Given the description of an element on the screen output the (x, y) to click on. 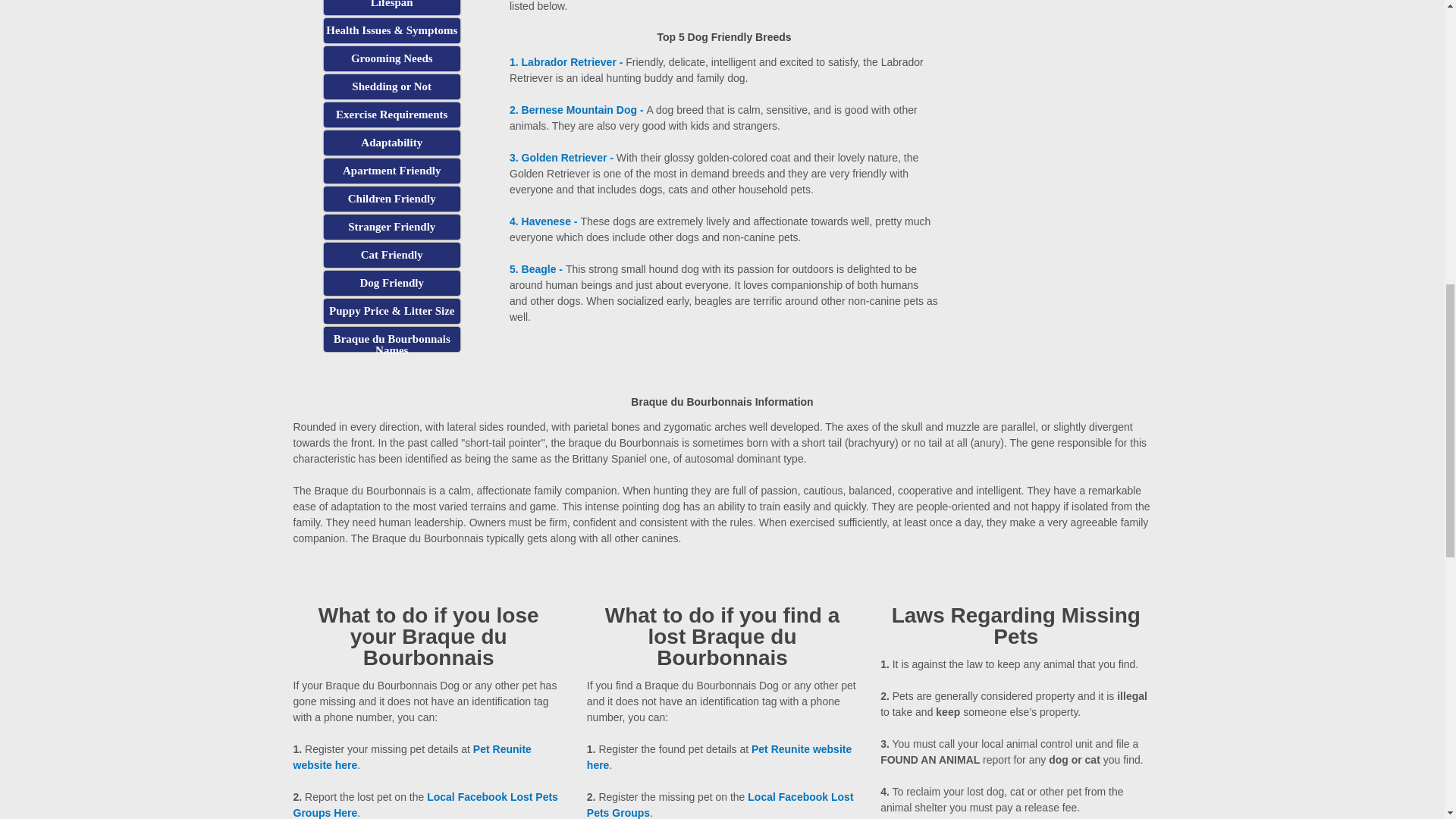
Can Braque du Bourbonnais Dogs live in apartments? (391, 170)
Do Braque du Bourbonnais Dogs need lots of exercise? (391, 114)
Do Braque du Bourbonnais Dogs needs lot of looking after? (391, 58)
Do Braque du Bourbonnais Dogs shed a lot? (391, 86)
Are Braque du Bourbonnais Dogs easy to adapt? (391, 142)
What is the lifespan of Braque du Bourbonnais Dogs? (391, 7)
